Given the description of an element on the screen output the (x, y) to click on. 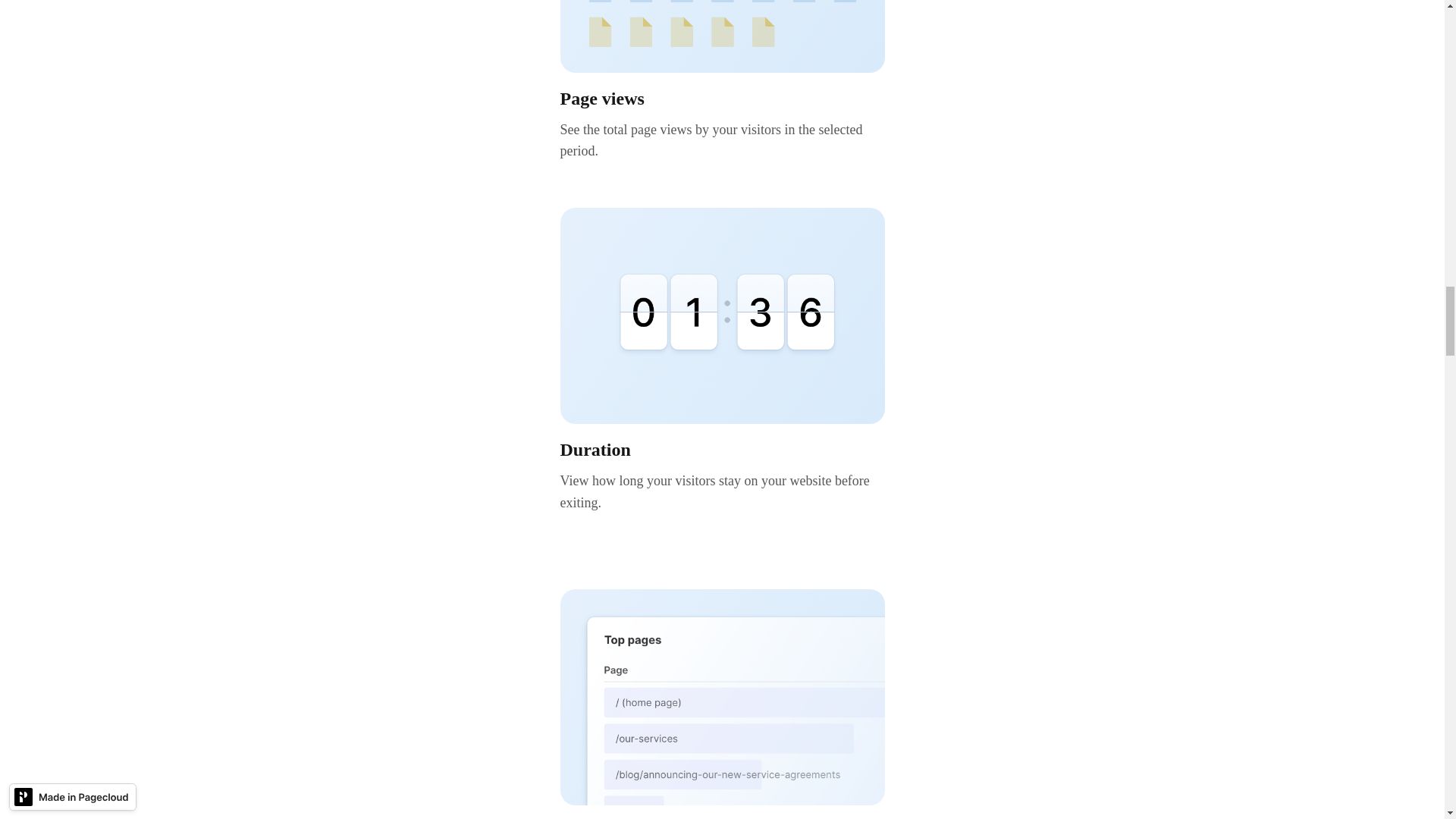
Pagecloud form builder (721, 696)
Analytics and seo tools (721, 36)
Image galleries (721, 316)
